Given the description of an element on the screen output the (x, y) to click on. 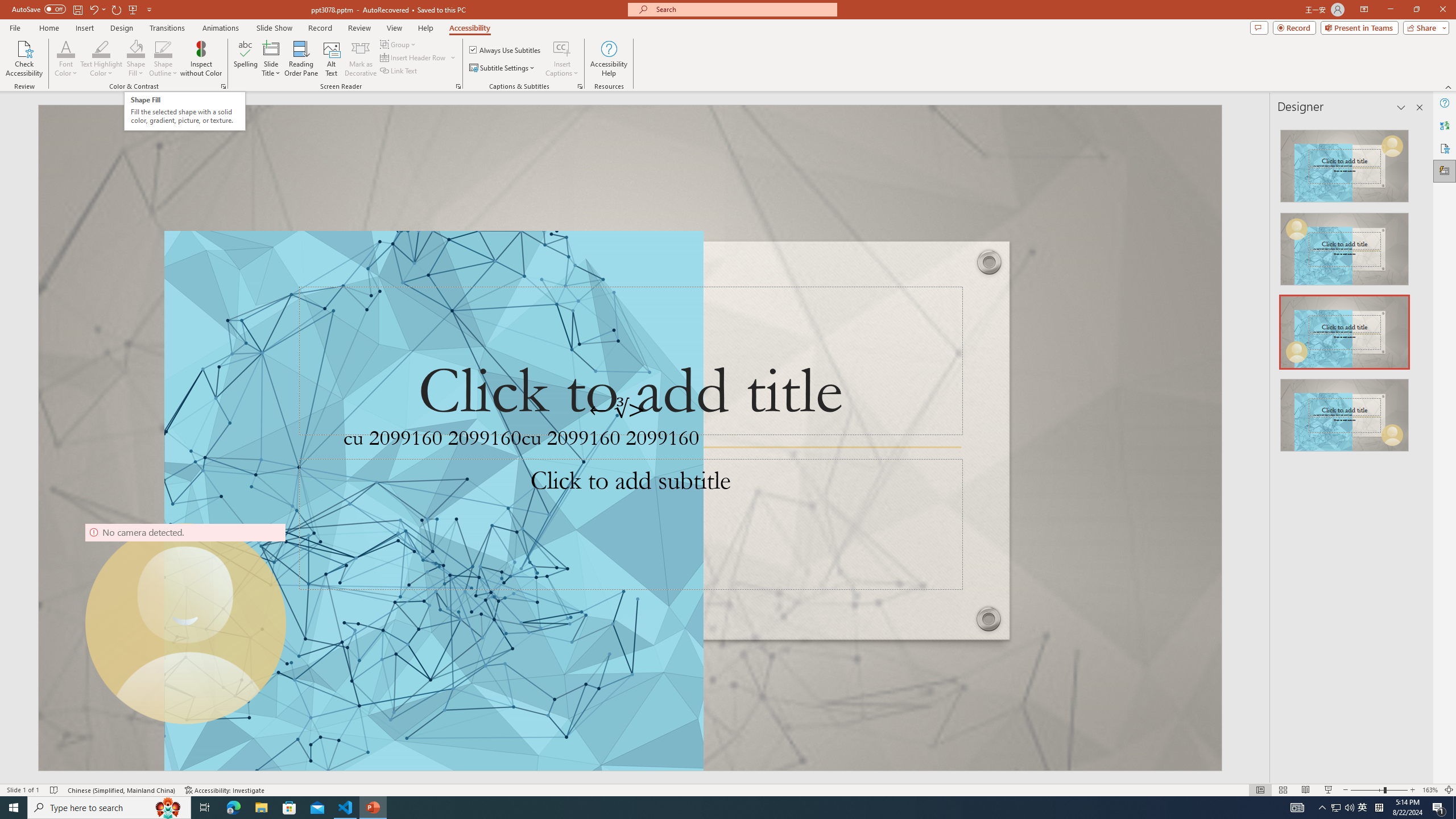
Font Color (65, 48)
TextBox 61 (628, 440)
Task Pane Options (1400, 107)
Subtitle Settings (502, 67)
Spelling... (245, 58)
Zoom 163% (1430, 790)
Designer (1444, 170)
Class: MsoCommandBar (728, 789)
Spell Check No Errors (54, 790)
Insert Captions (561, 48)
Inspect without Color (201, 58)
